Given the description of an element on the screen output the (x, y) to click on. 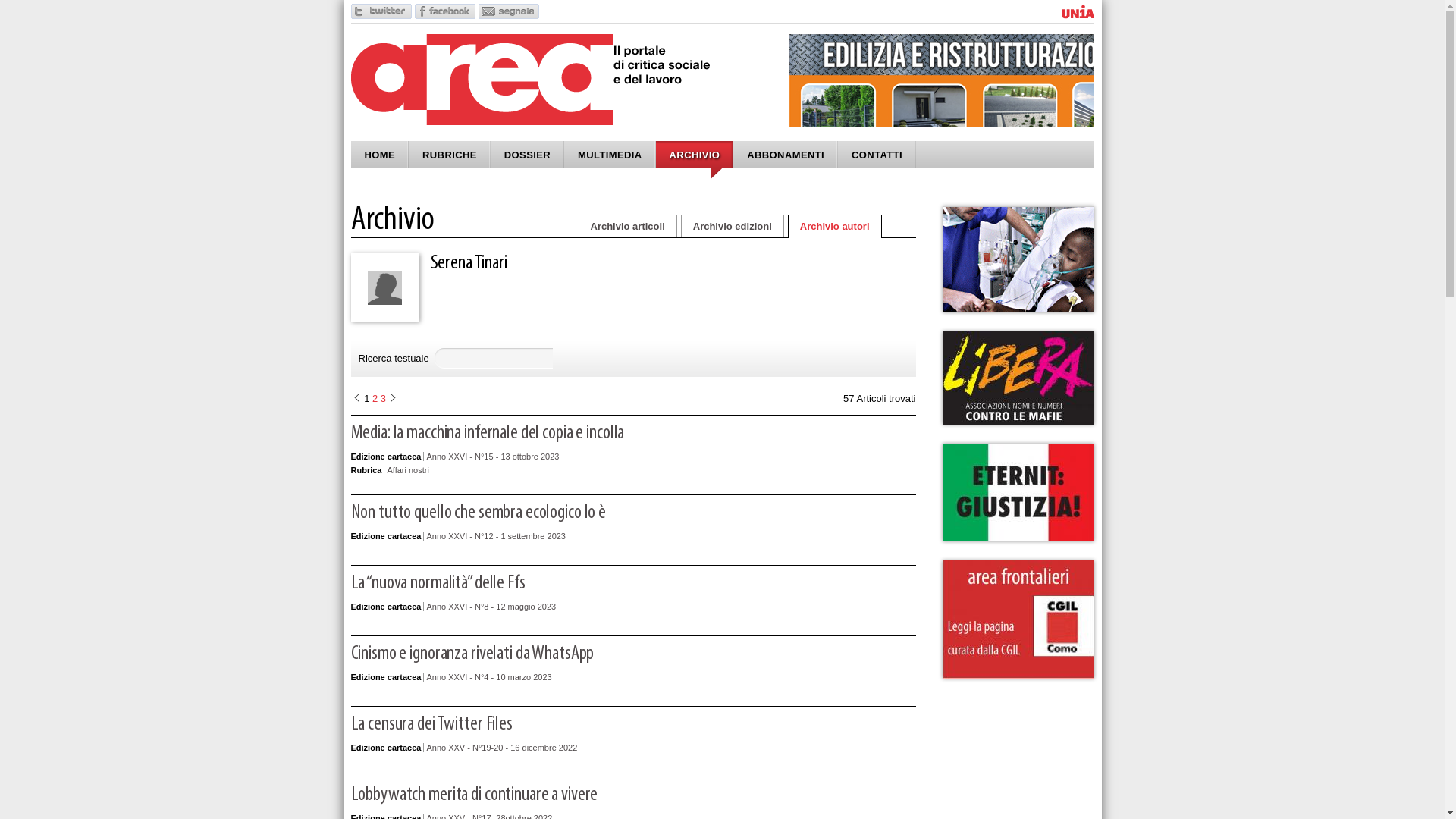
RUBRICHE Element type: text (449, 154)
  Element type: text (397, 398)
DOSSIER Element type: text (527, 154)
HOME Element type: text (379, 154)
2 Element type: text (374, 398)
Affari nostri Element type: text (407, 469)
Archivio articoli Element type: text (626, 226)
Lobbywatch merita di continuare a vivere Element type: text (473, 794)
3 Element type: text (382, 398)
Archivio edizioni Element type: text (732, 226)
ARCHIVIO Element type: text (694, 154)
ABBONAMENTI Element type: text (785, 154)
La censura dei Twitter Files Element type: text (430, 724)
CONTATTI Element type: text (876, 154)
Archivio autori Element type: text (834, 226)
MULTIMEDIA Element type: text (609, 154)
Cinismo e ignoranza rivelati da WhatsApp Element type: text (471, 653)
Media: la macchina infernale del copia e incolla Element type: text (487, 433)
